Given the description of an element on the screen output the (x, y) to click on. 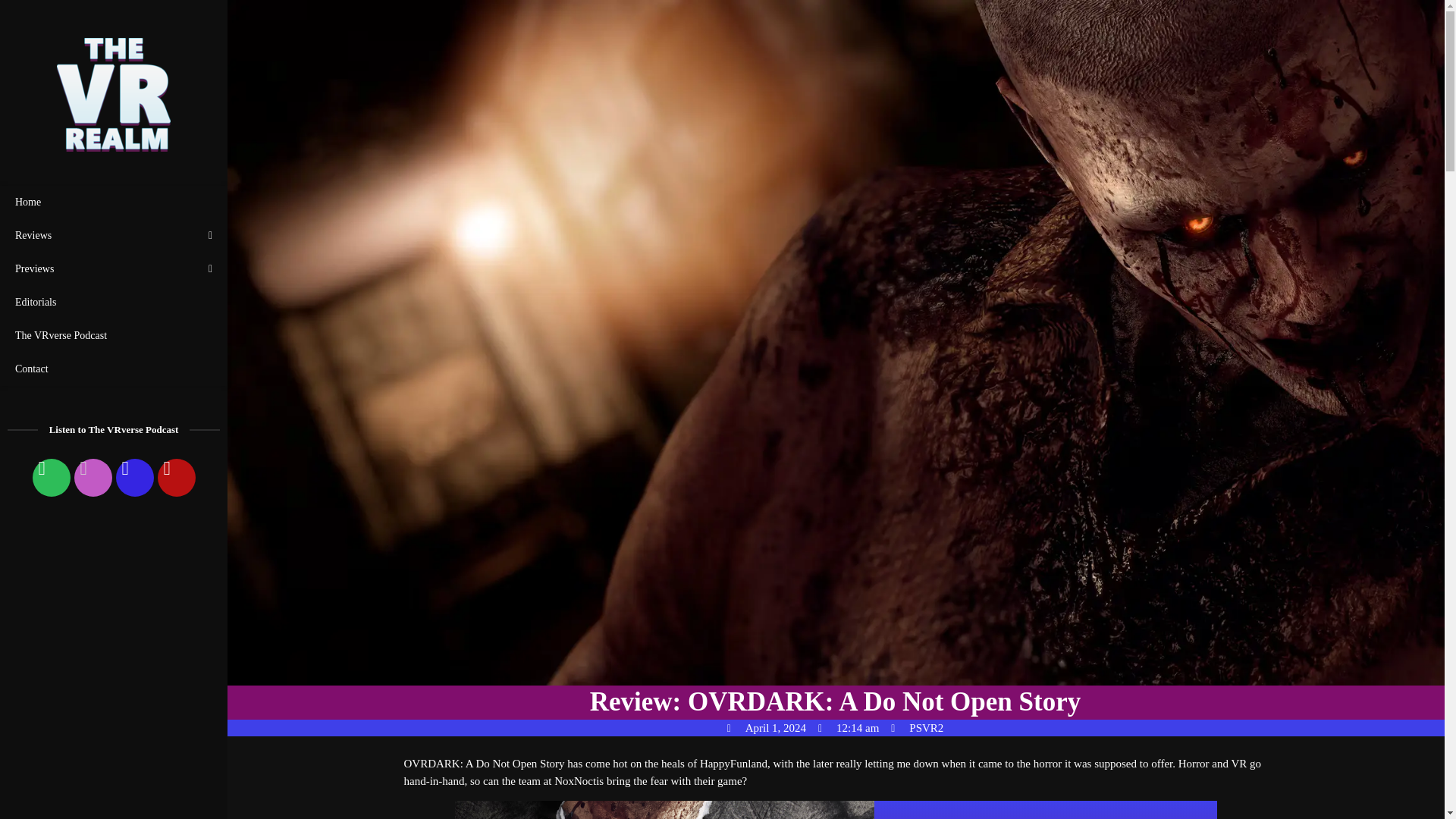
Reviews (113, 235)
The VRverse Podcast (113, 335)
Contact (113, 368)
Home (113, 202)
Previews (113, 268)
Editorials (113, 302)
